Given the description of an element on the screen output the (x, y) to click on. 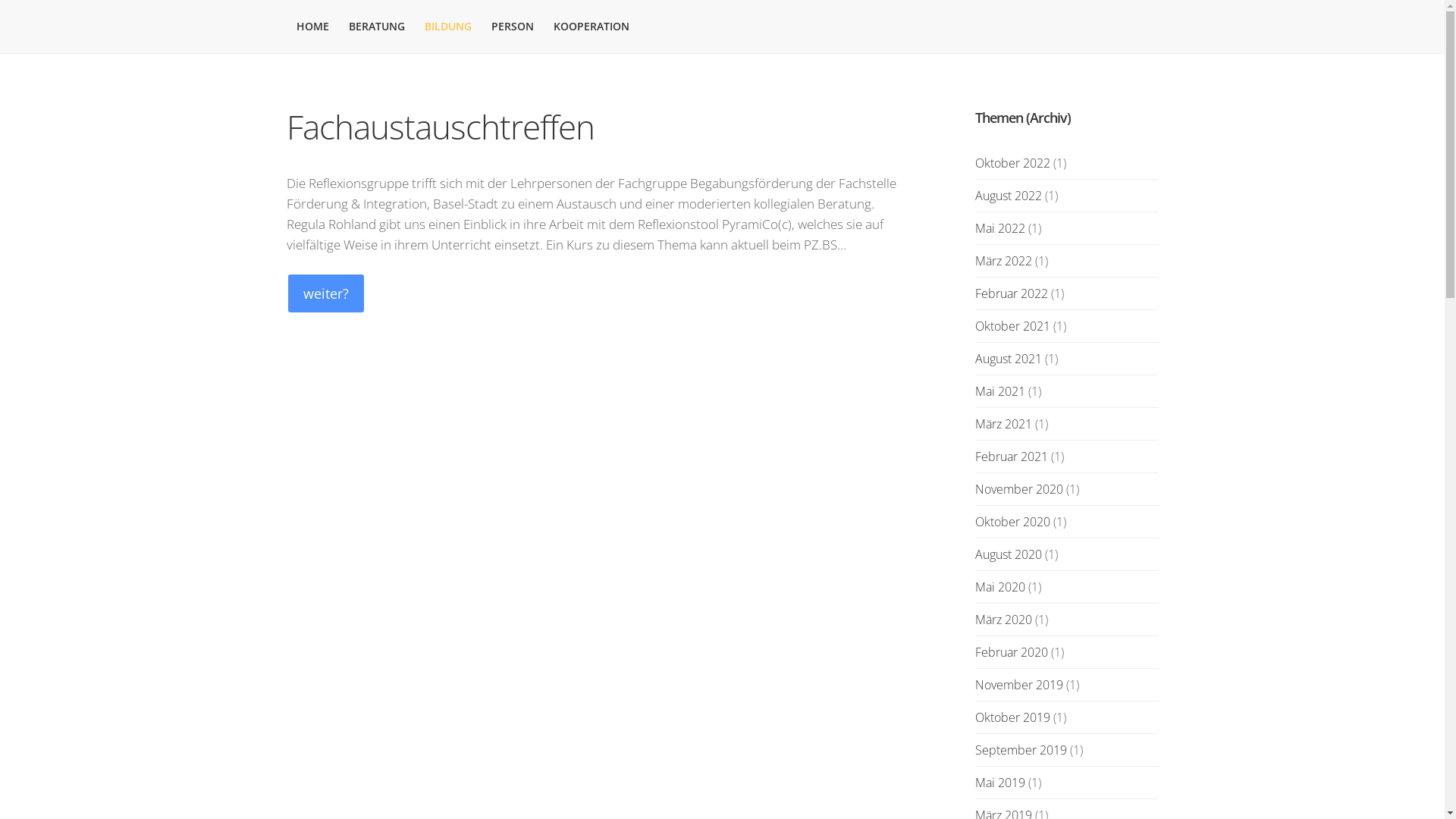
Oktober 2020 Element type: text (1012, 521)
Februar 2022 Element type: text (1011, 293)
August 2022 Element type: text (1008, 195)
Fachaustauschtreffen Element type: text (440, 126)
Februar 2021 Element type: text (1011, 456)
September 2019 Element type: text (1020, 749)
Februar 2020 Element type: text (1011, 651)
Mai 2019 Element type: text (1000, 782)
Mai 2020 Element type: text (1000, 586)
August 2020 Element type: text (1008, 554)
Oktober 2022 Element type: text (1012, 162)
November 2019 Element type: text (1019, 684)
BERATUNG Element type: text (376, 26)
Oktober 2019 Element type: text (1012, 717)
PERSON Element type: text (511, 26)
KOOPERATION Element type: text (590, 26)
Mai 2021 Element type: text (1000, 390)
weiter? Element type: text (326, 293)
Oktober 2021 Element type: text (1012, 325)
BILDUNG Element type: text (447, 26)
Mai 2022 Element type: text (1000, 227)
November 2020 Element type: text (1019, 488)
August 2021 Element type: text (1008, 358)
HOME Element type: text (312, 26)
